Given the description of an element on the screen output the (x, y) to click on. 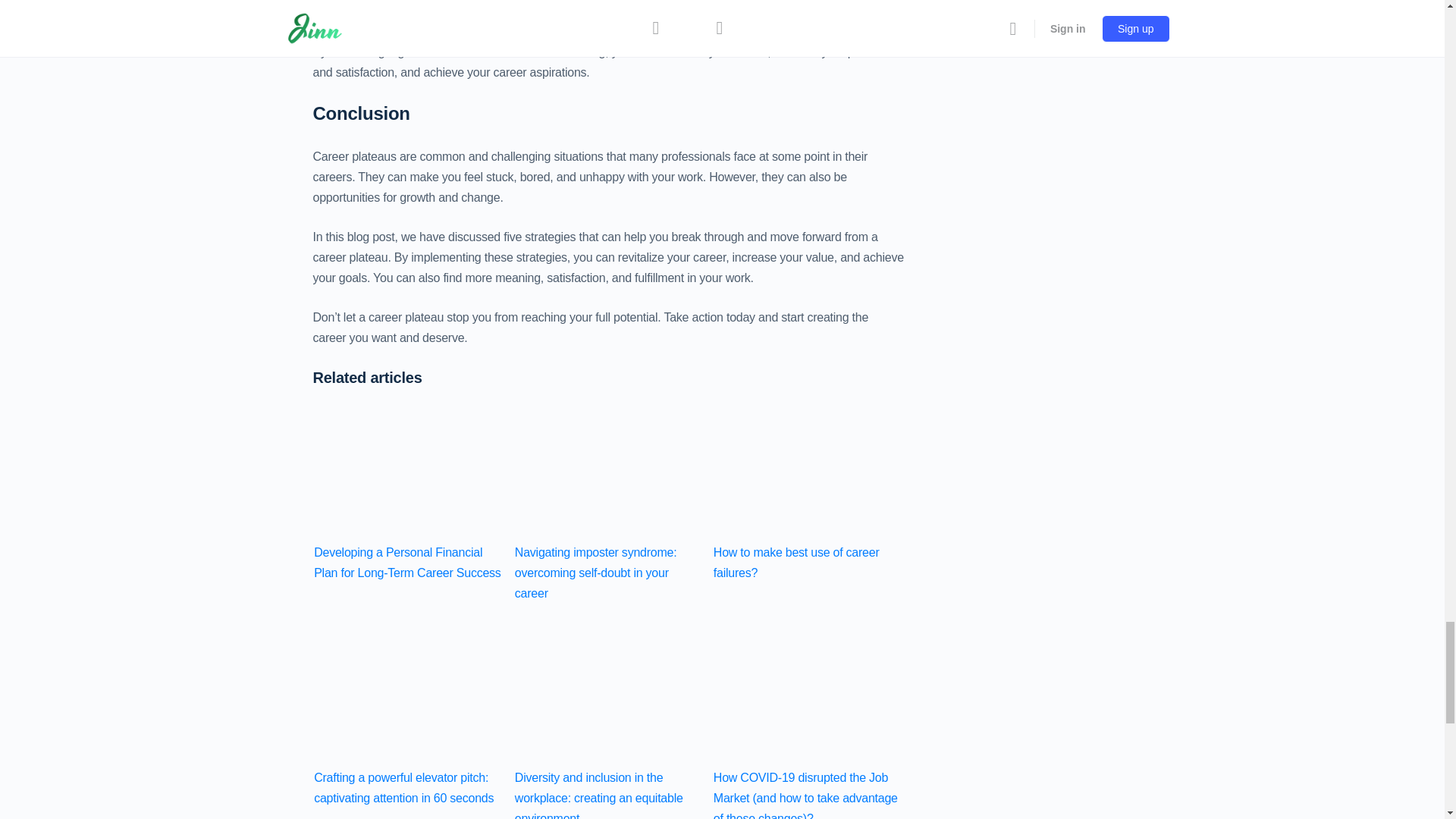
How to make best use of career failures? (807, 443)
